Given the description of an element on the screen output the (x, y) to click on. 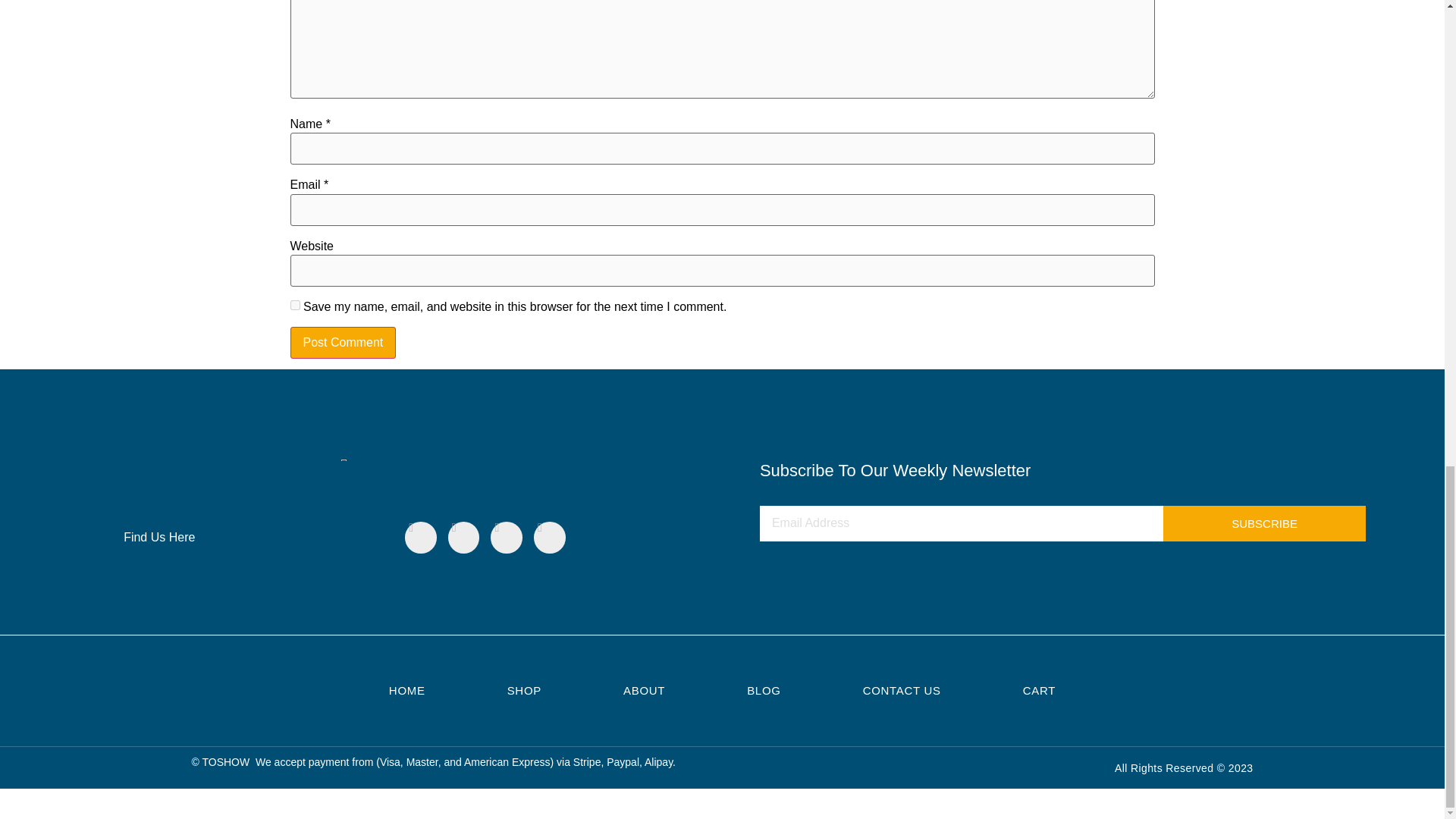
yes (294, 305)
ABOUT (644, 690)
Post Comment (342, 342)
CART (1039, 690)
SHOP (523, 690)
CONTACT US (901, 690)
SUBSCRIBE (1264, 523)
HOME (406, 690)
Post Comment (342, 342)
BLOG (763, 690)
